Given the description of an element on the screen output the (x, y) to click on. 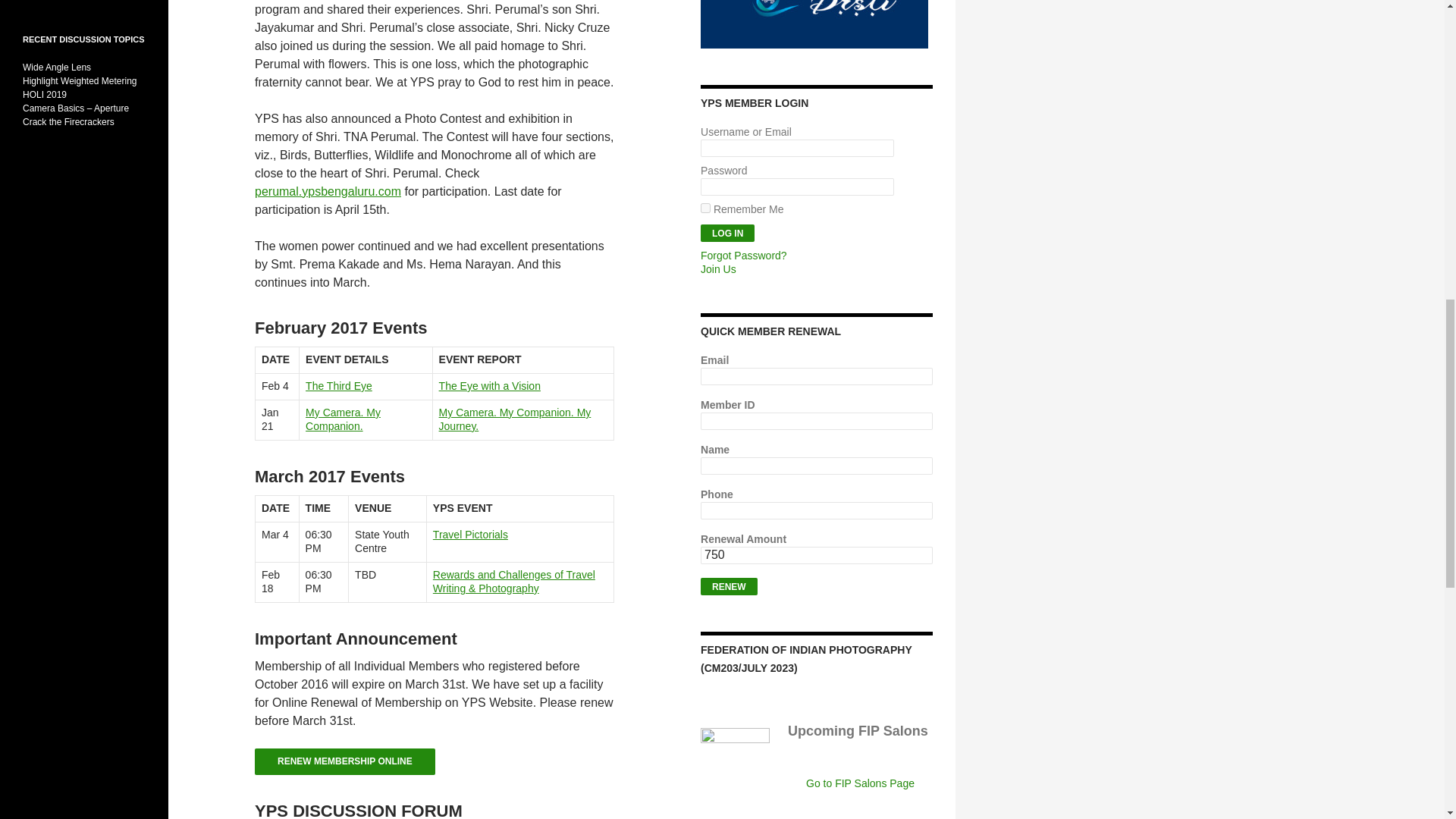
My Camera. My Companion. My Journey. (515, 419)
RENEW MEMBERSHIP ONLINE (344, 765)
The Third Eye (338, 386)
Renew (728, 586)
750 (816, 555)
Join Us (718, 268)
The Eye with a Vision (489, 386)
on (705, 207)
Log In (727, 232)
My Camera. My Companion. (342, 419)
Forgot Password? (743, 255)
Log In (727, 232)
perumal.ypsbengaluru.com (327, 191)
Travel Pictorials (470, 534)
RENEW MEMBERSHIP ONLINE (344, 761)
